Given the description of an element on the screen output the (x, y) to click on. 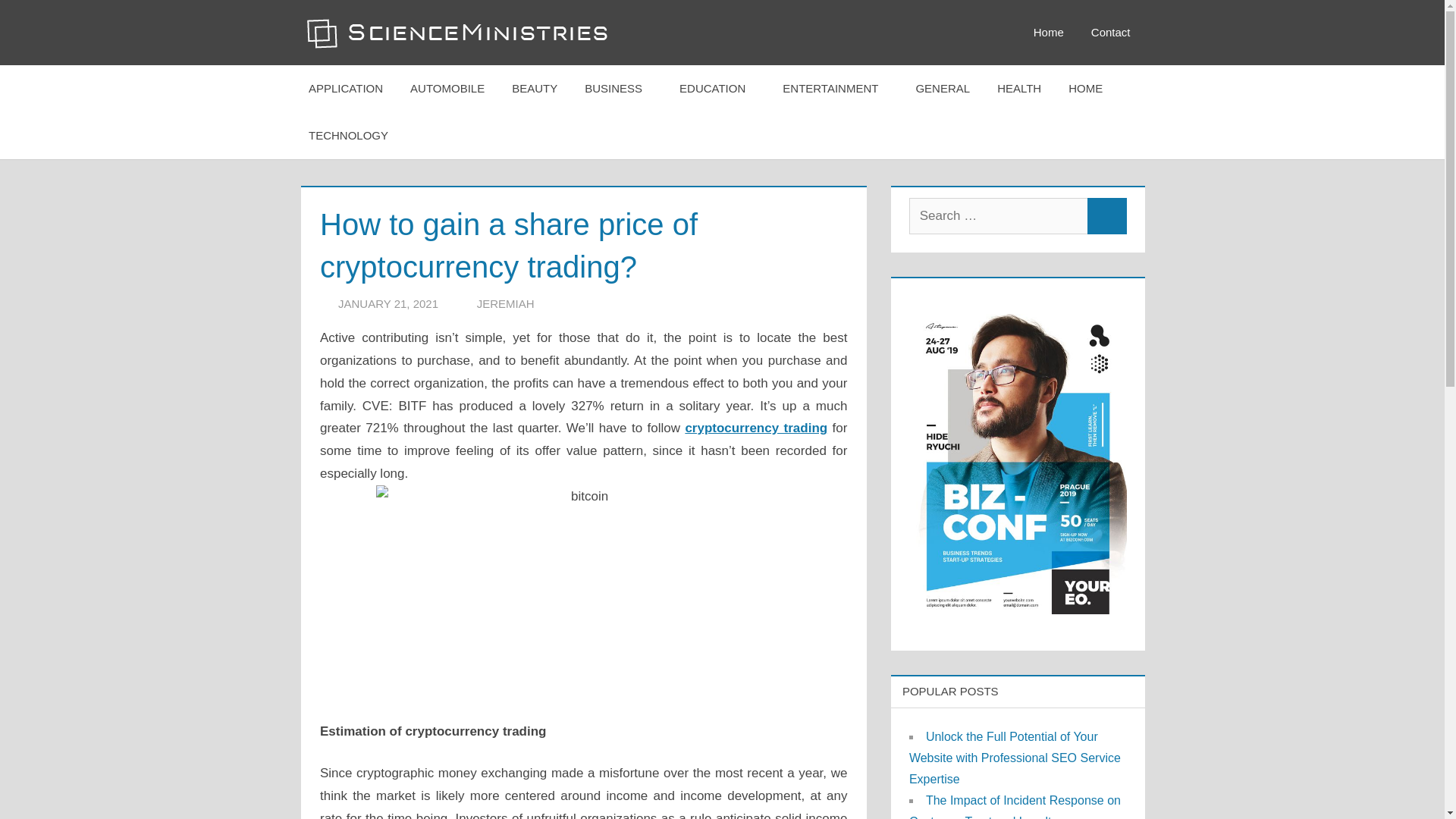
TECHNOLOGY (353, 135)
HEALTH (1019, 88)
11:20 am (387, 303)
APPLICATION (345, 88)
EDUCATION (716, 88)
Home (1048, 32)
HOME (1089, 88)
Contact (1110, 32)
ENTERTAINMENT (834, 88)
Search for: (997, 216)
